Given the description of an element on the screen output the (x, y) to click on. 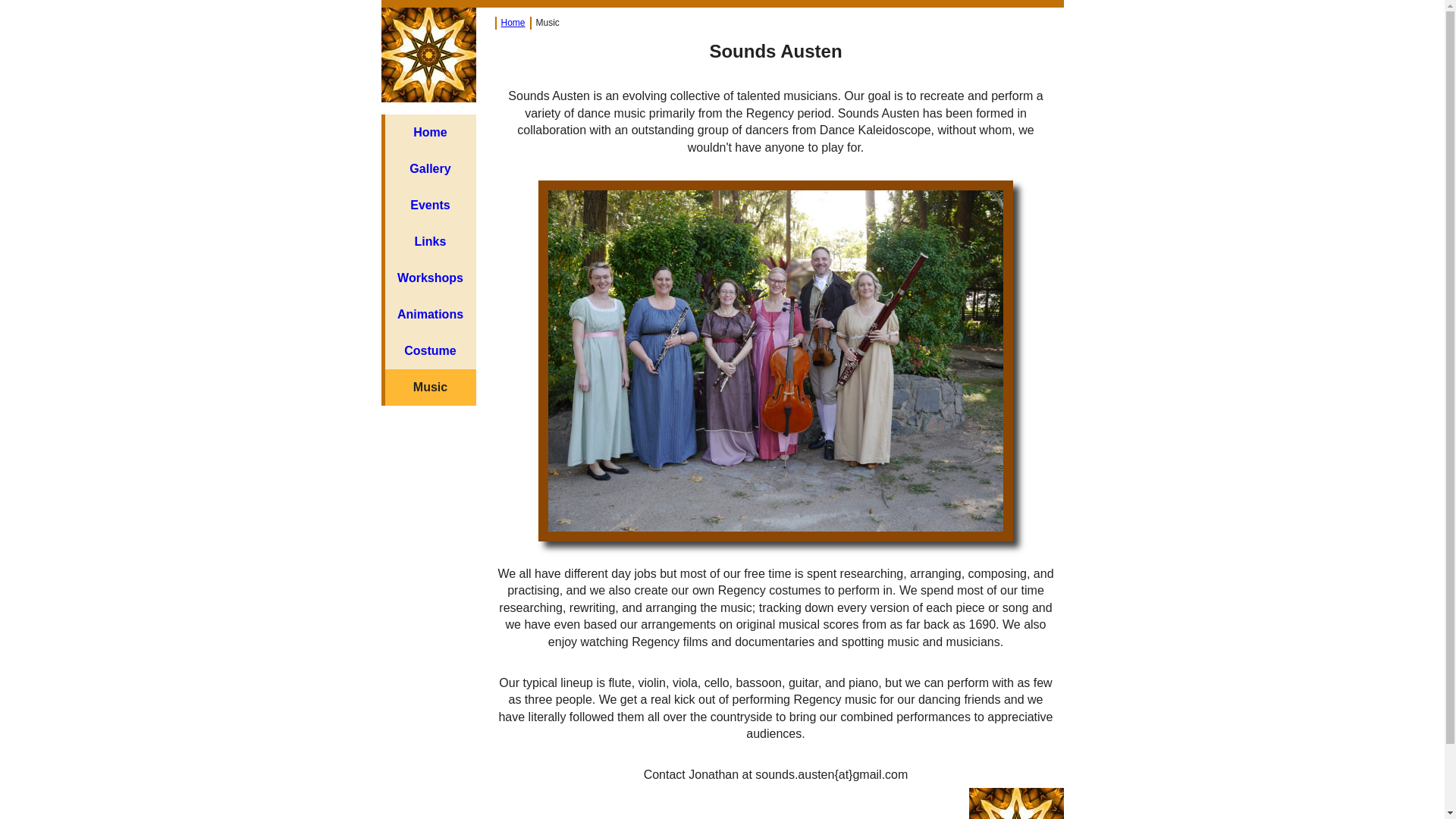
Animations Element type: text (430, 314)
Home Element type: text (512, 22)
Workshops Element type: text (430, 278)
Home Element type: text (430, 132)
Events Element type: text (430, 205)
Costume Element type: text (430, 350)
Links Element type: text (430, 241)
Gallery Element type: text (430, 168)
